Given the description of an element on the screen output the (x, y) to click on. 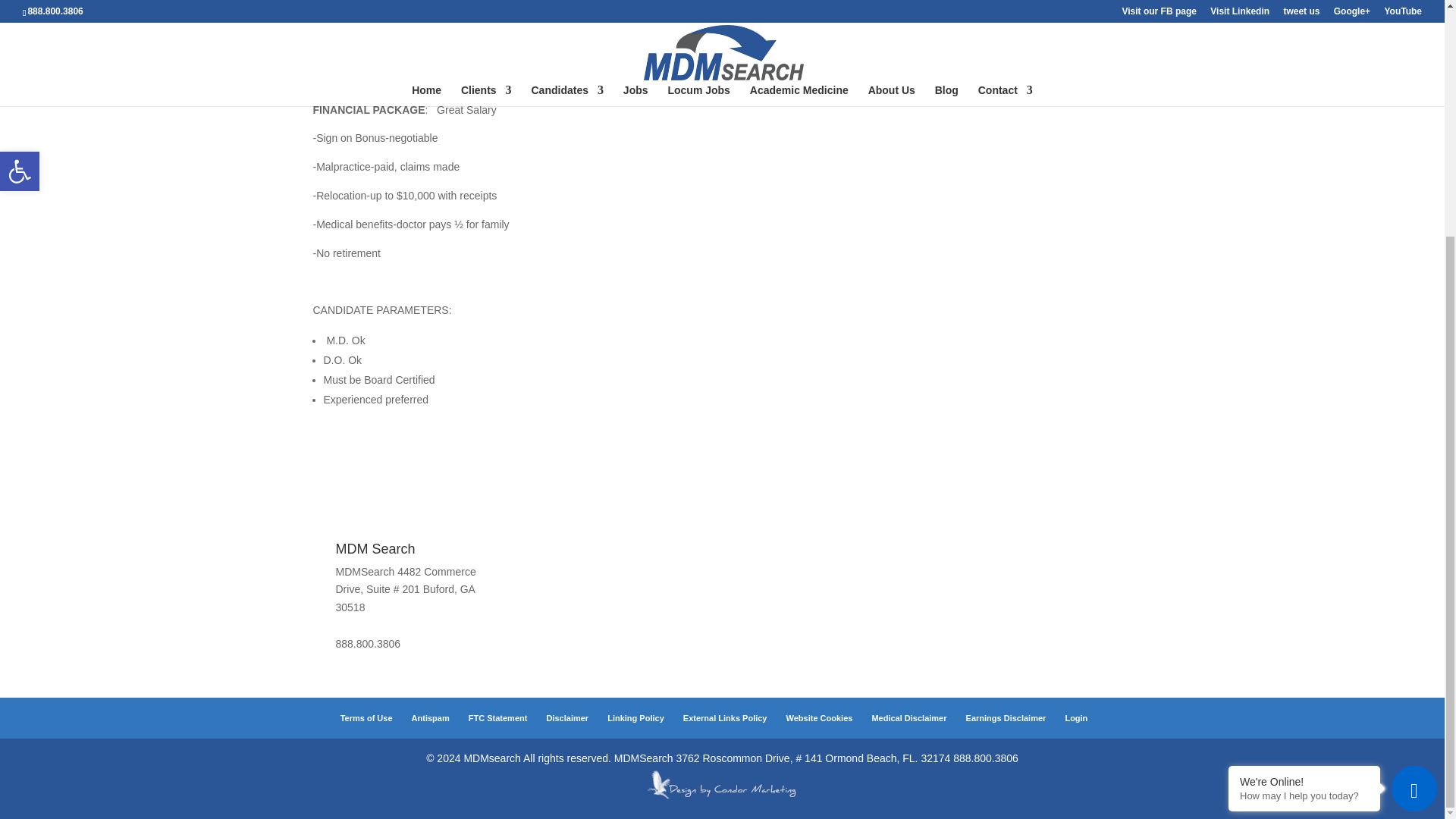
We're Online! (1304, 458)
How may I help you today? (1304, 472)
Website Design (721, 797)
